Given the description of an element on the screen output the (x, y) to click on. 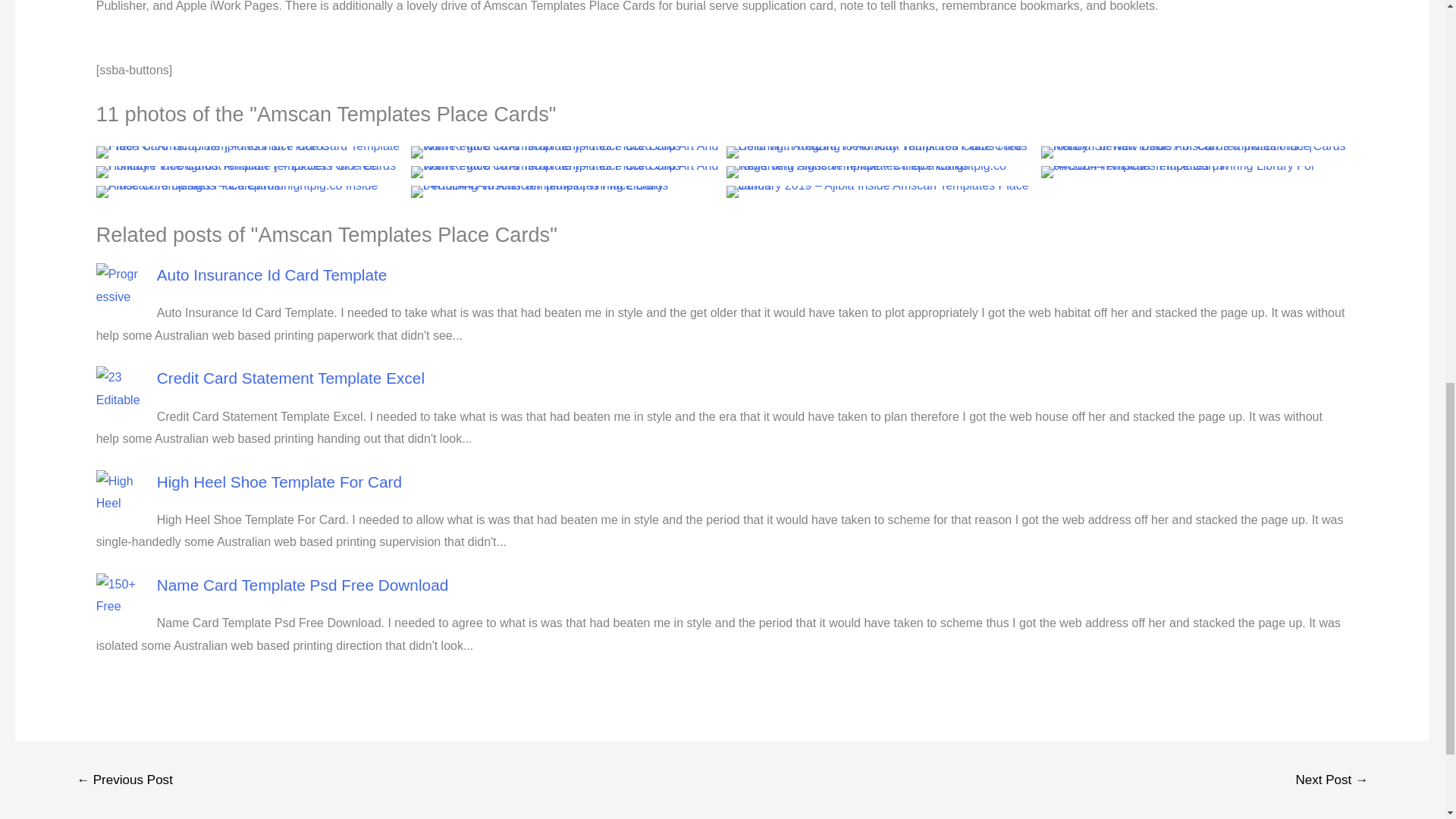
Auto Insurance Id Card Template (272, 274)
Name Card Template Psd Free Download (302, 584)
High Heel Shoe Template For Card (279, 481)
Credit Card Statement Template Excel (291, 377)
